Given the description of an element on the screen output the (x, y) to click on. 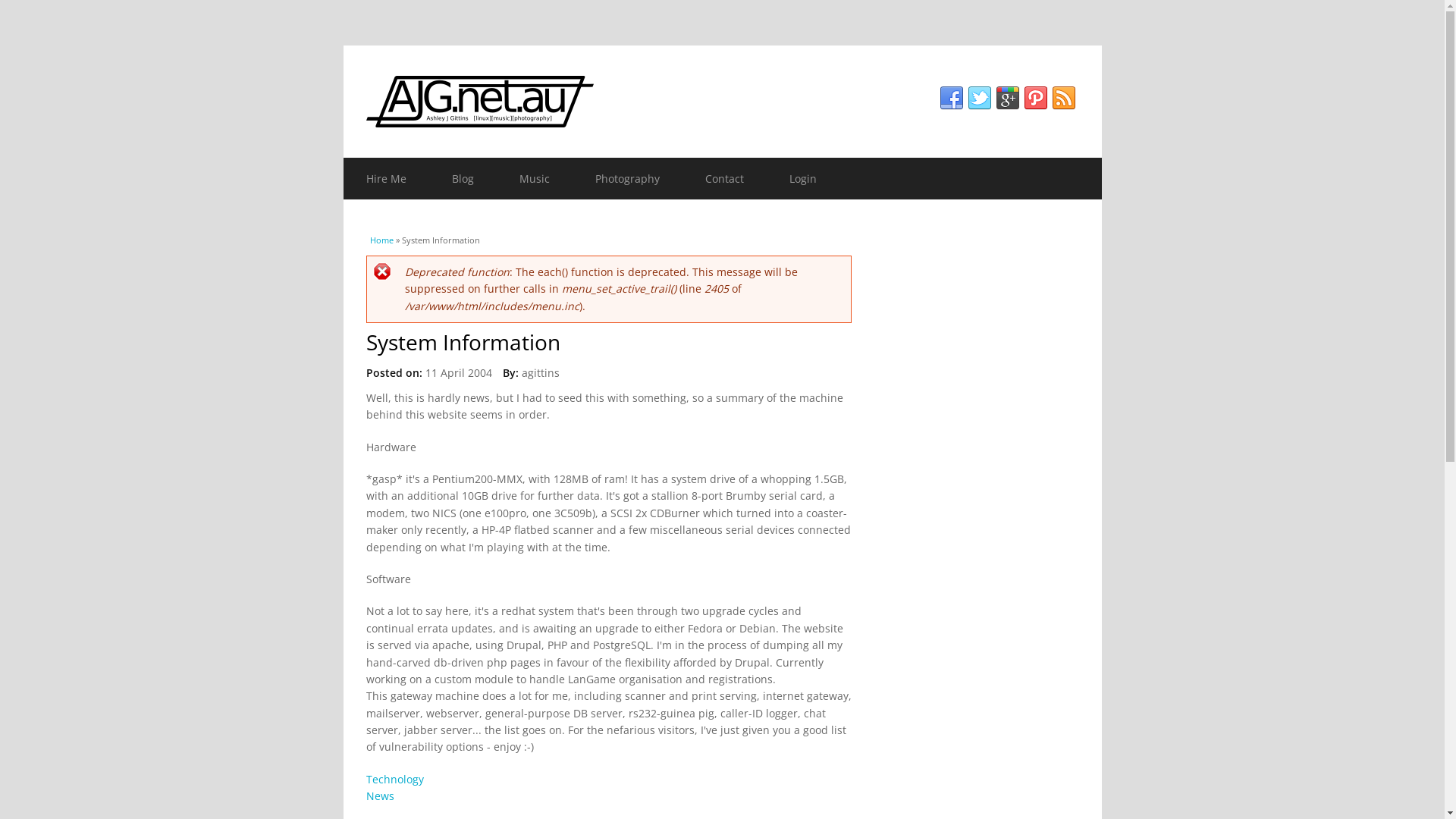
ajg.net.au in RSS Element type: hover (1063, 98)
ajg.net.au in Google+ Element type: hover (1006, 98)
Contact Element type: text (724, 178)
ajg.net.au in Facebook Element type: hover (950, 98)
Login Element type: text (801, 178)
News Element type: text (379, 795)
Music Element type: text (533, 178)
Hire Me Element type: text (385, 178)
Home Element type: hover (721, 101)
Blog Element type: text (462, 178)
Technology Element type: text (394, 778)
Home Element type: text (381, 239)
Advertisement Element type: hover (983, 456)
ajg.net.au in Pinterest Element type: hover (1035, 98)
Photography Element type: text (626, 178)
ajg.net.au in Twitter Element type: hover (979, 98)
